Given the description of an element on the screen output the (x, y) to click on. 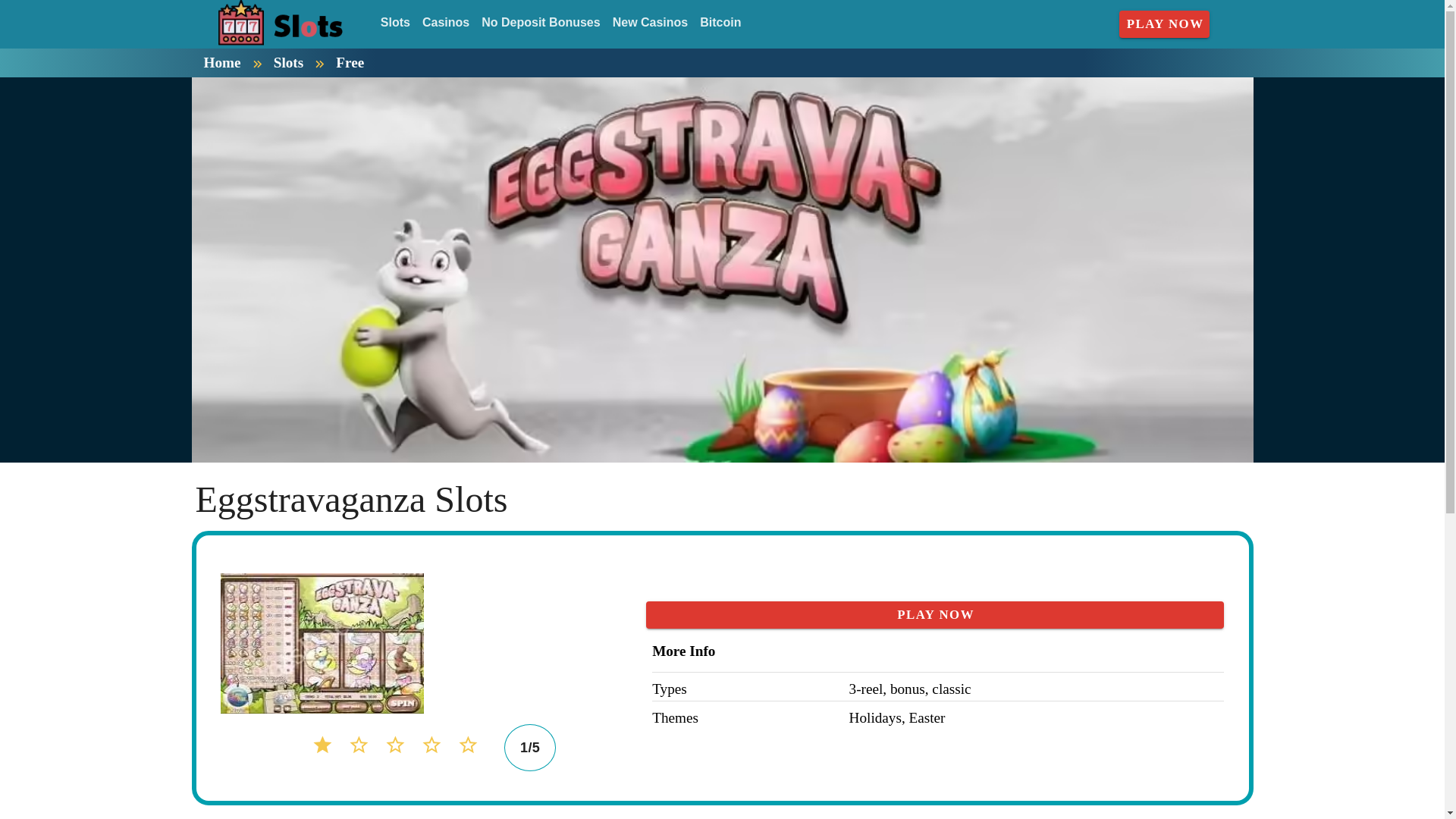
Slots (395, 22)
Slots (287, 62)
Casinos (446, 22)
PLAY NOW (935, 614)
Home (221, 62)
Bitcoin (720, 22)
No Deposit Bonuses (540, 22)
New Casinos (650, 22)
Free (350, 62)
PLAY NOW (1164, 23)
